Given the description of an element on the screen output the (x, y) to click on. 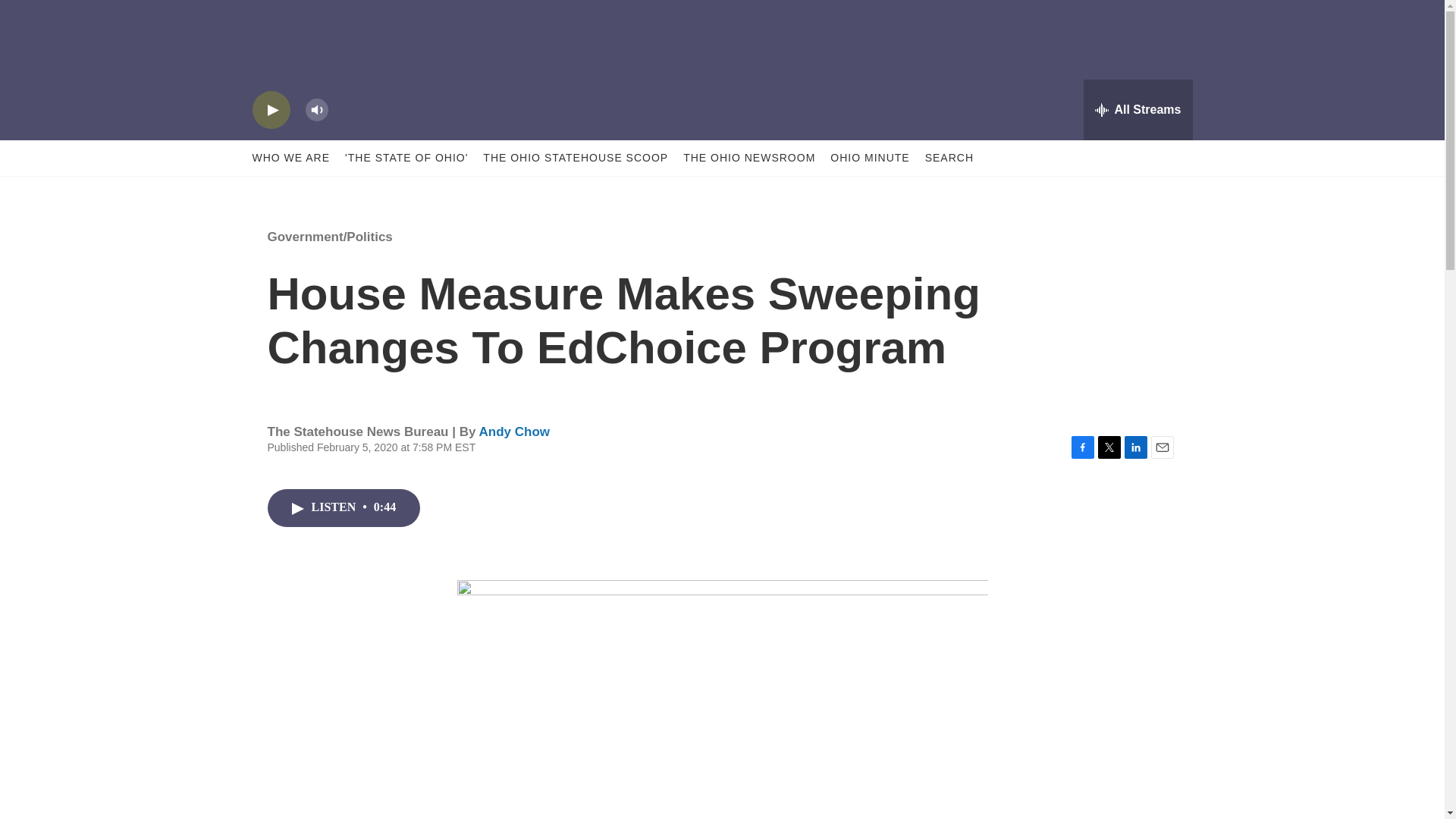
Andy Chow (514, 431)
SEARCH (949, 158)
All Streams (1137, 109)
LinkedIn (1135, 446)
OHIO MINUTE (868, 158)
Twitter (1109, 446)
WHO WE ARE (290, 158)
'THE STATE OF OHIO' (406, 158)
THE OHIO STATEHOUSE SCOOP (575, 158)
Facebook (1081, 446)
